Given the description of an element on the screen output the (x, y) to click on. 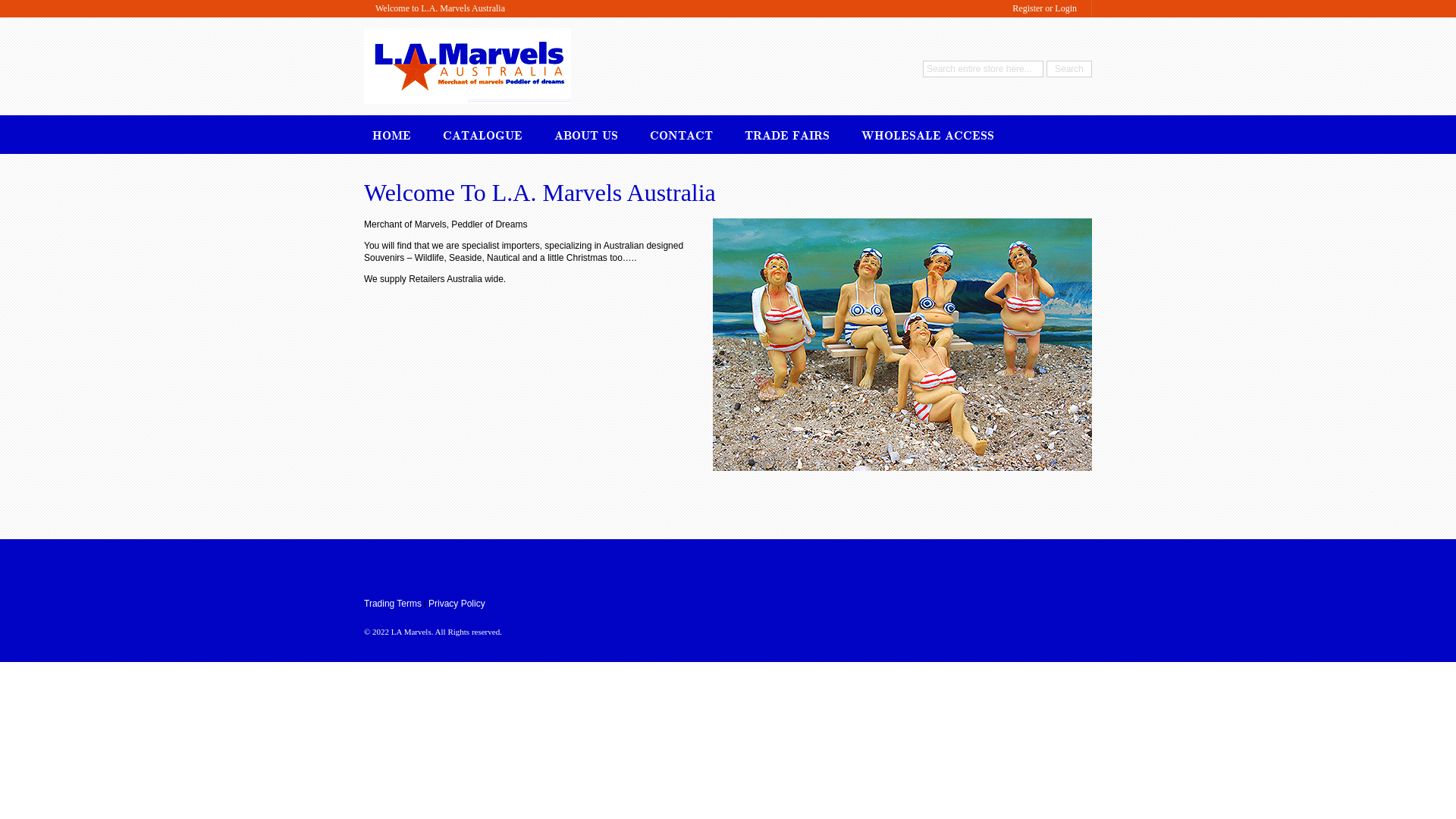
Magento Commerce Element type: hover (467, 42)
CATALOGUE Element type: text (482, 133)
Register or Login Element type: text (1044, 8)
ABOUT US Element type: text (586, 133)
Welcome to L.A. Marvels Australia Element type: text (440, 8)
CONTACT Element type: text (681, 133)
Trading Terms Element type: text (392, 603)
TRADE FAIRS Element type: text (786, 133)
Search Element type: text (1069, 68)
HOME Element type: text (391, 133)
Privacy Policy Element type: text (456, 603)
WHOLESALE ACCESS Element type: text (927, 133)
